Given the description of an element on the screen output the (x, y) to click on. 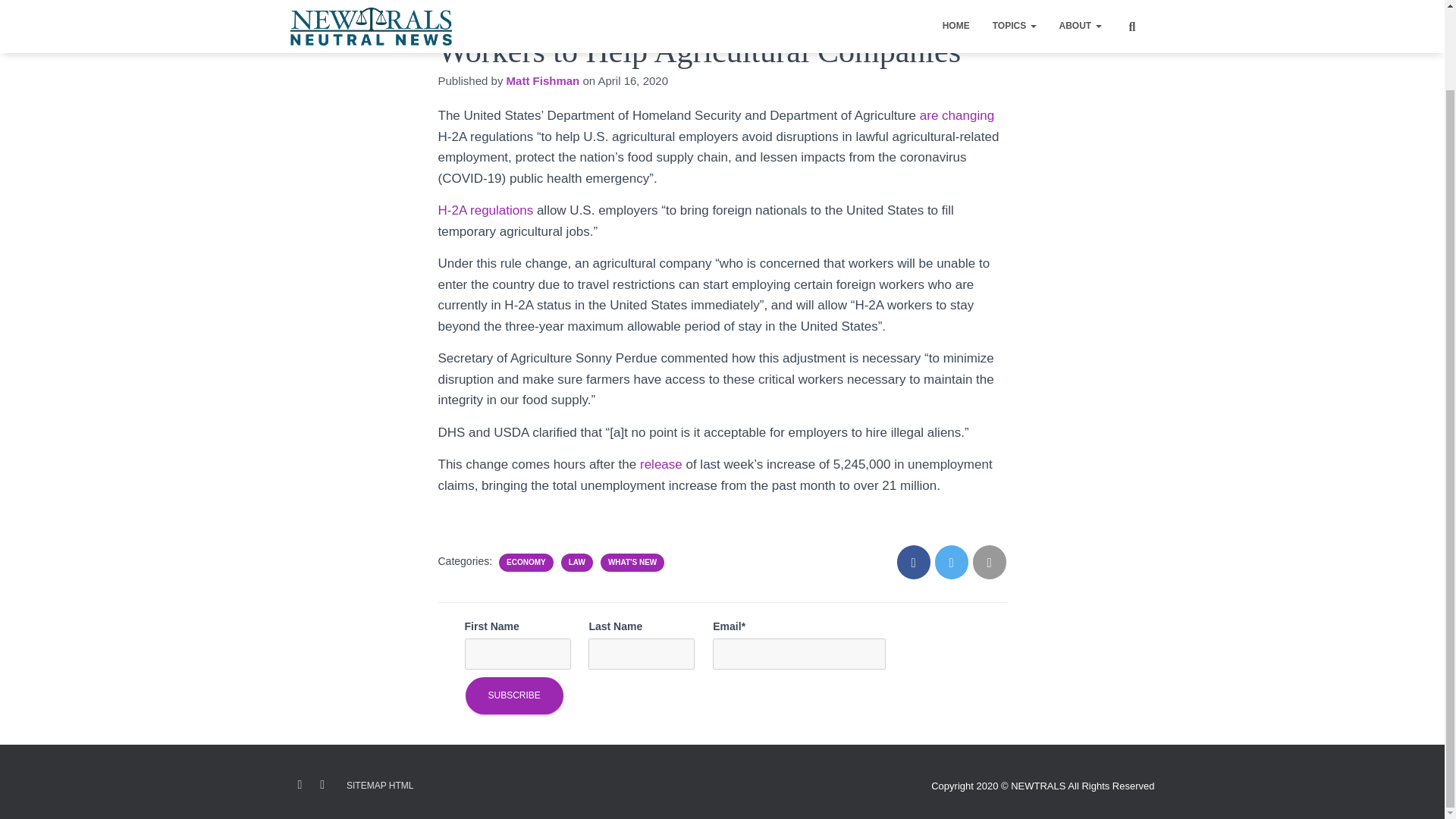
are changing (957, 115)
ECONOMY (526, 562)
H-2A regulations (486, 210)
WHAT'S NEW (632, 562)
Subscribe (514, 695)
LAW (577, 562)
SITEMAP HTML (379, 785)
release (662, 464)
Subscribe (514, 695)
Matt Fishman (542, 80)
